Given the description of an element on the screen output the (x, y) to click on. 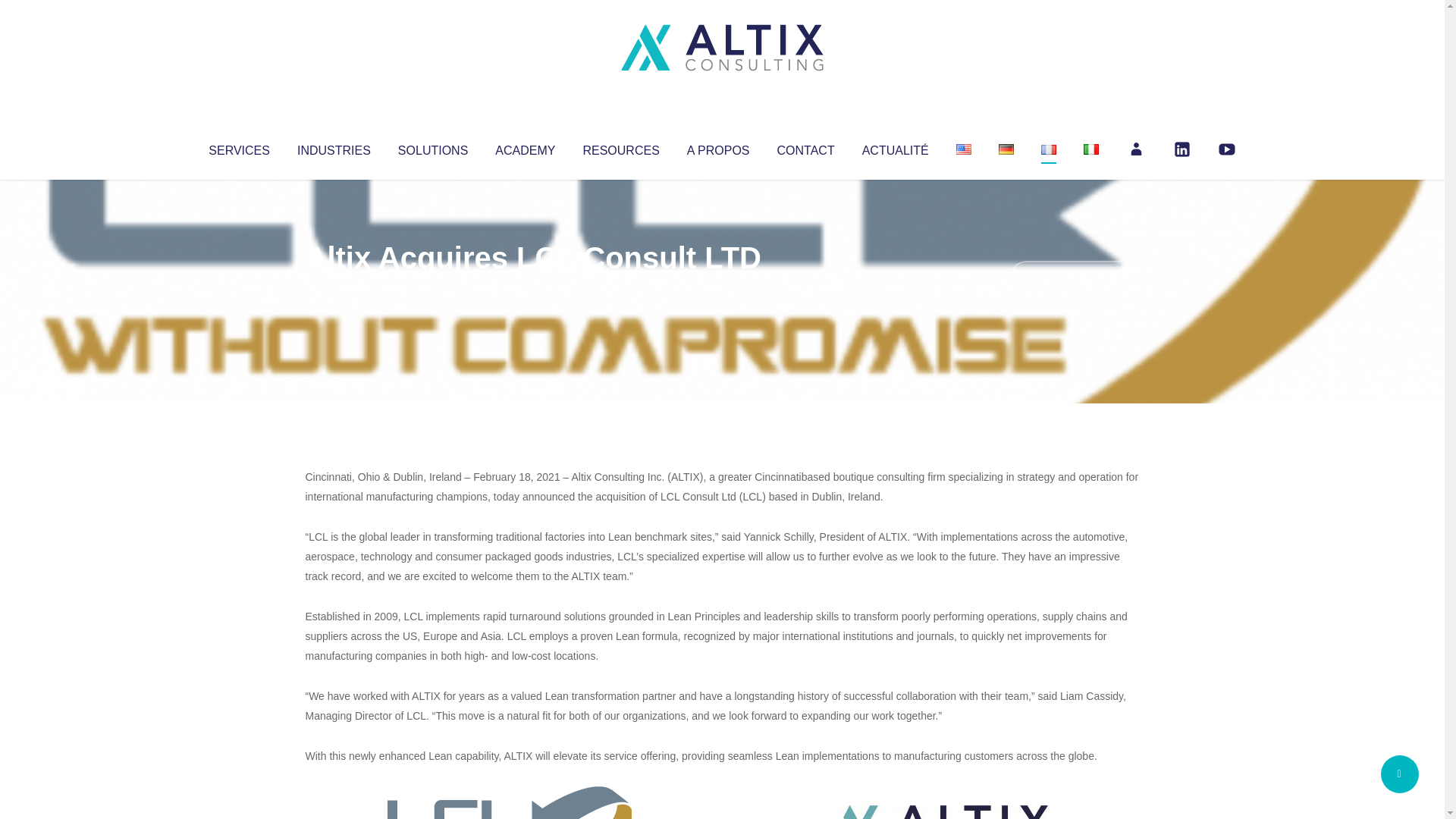
ACADEMY (524, 146)
Uncategorized (530, 287)
No Comments (1073, 278)
SOLUTIONS (432, 146)
SERVICES (238, 146)
RESOURCES (620, 146)
A PROPOS (718, 146)
Altix (333, 287)
INDUSTRIES (334, 146)
Articles par Altix (333, 287)
